Given the description of an element on the screen output the (x, y) to click on. 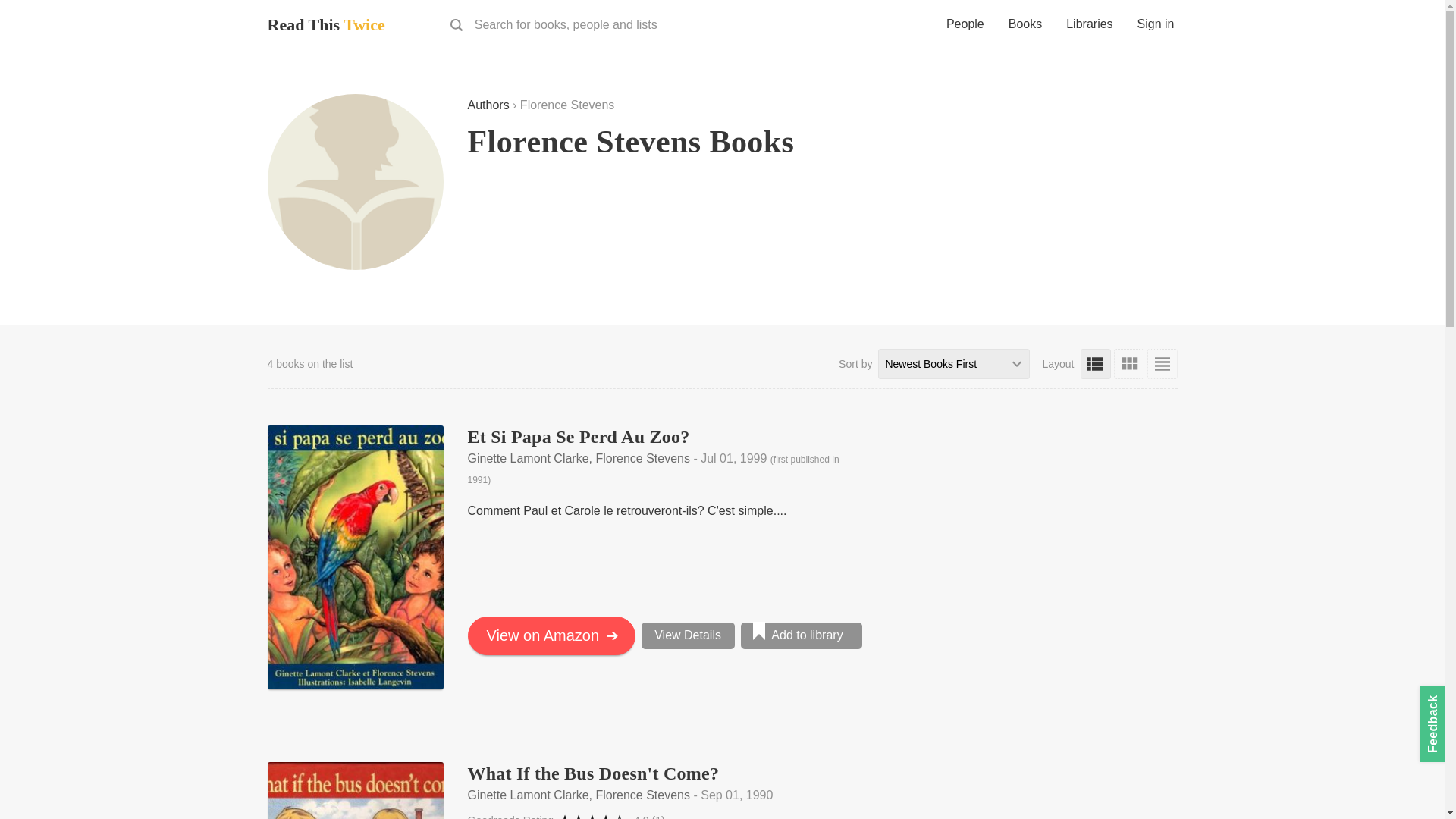
People (965, 25)
Read This Twice (325, 24)
View Details (688, 635)
Florence Stevens (354, 182)
Books (1025, 25)
Add to library (800, 635)
Goodreads reviews (648, 816)
What If the Bus Doesn't Come? (593, 772)
Authors (487, 104)
Libraries (1088, 25)
Et Si Papa Se Perd Au Zoo? (577, 436)
